Given the description of an element on the screen output the (x, y) to click on. 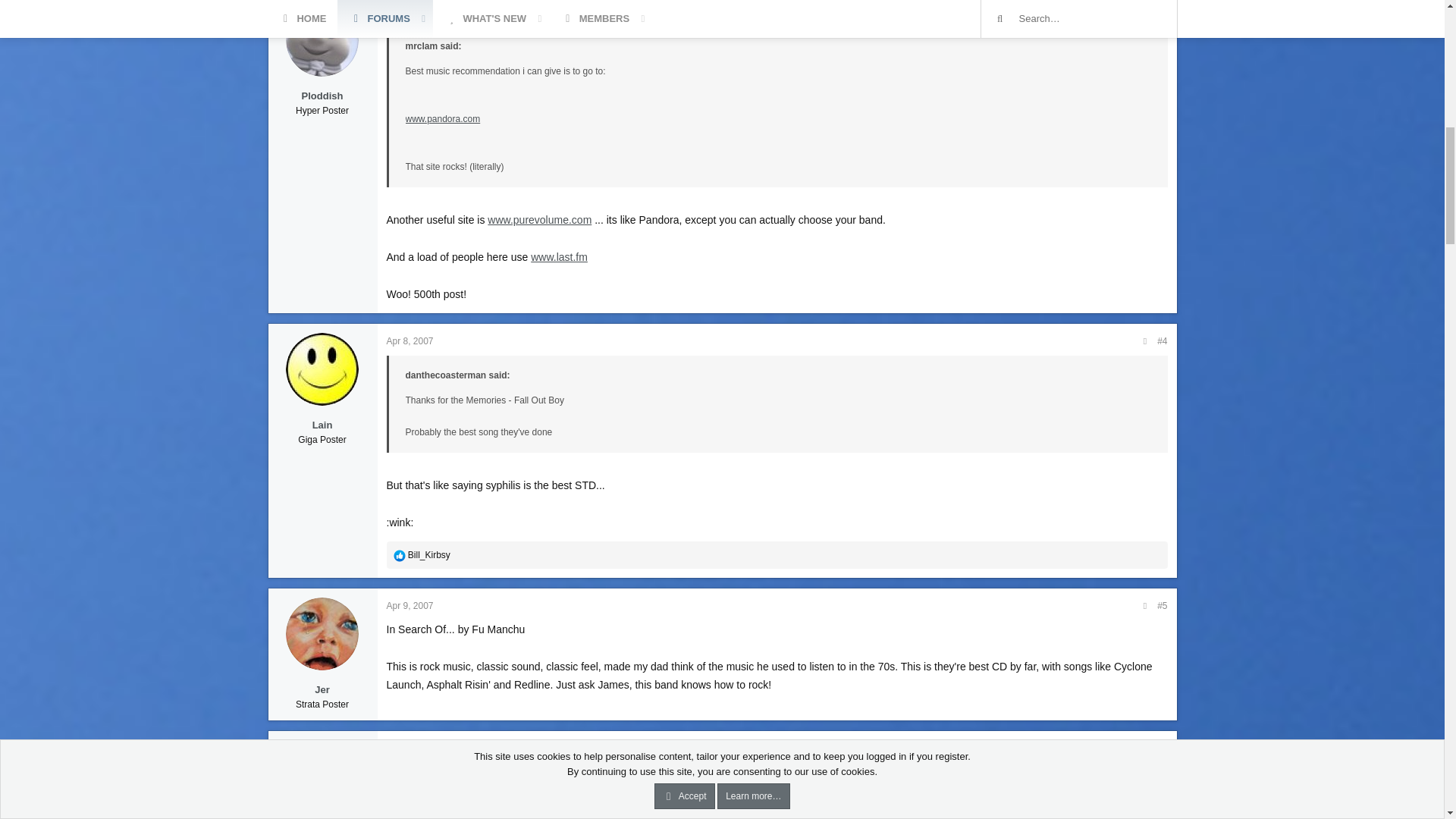
Apr 9, 2007 at 2:48 AM (410, 747)
Apr 8, 2007 at 10:33 PM (410, 339)
Apr 8, 2007 at 3:35 PM (410, 10)
Like (398, 554)
Apr 9, 2007 at 1:45 AM (410, 605)
